Given the description of an element on the screen output the (x, y) to click on. 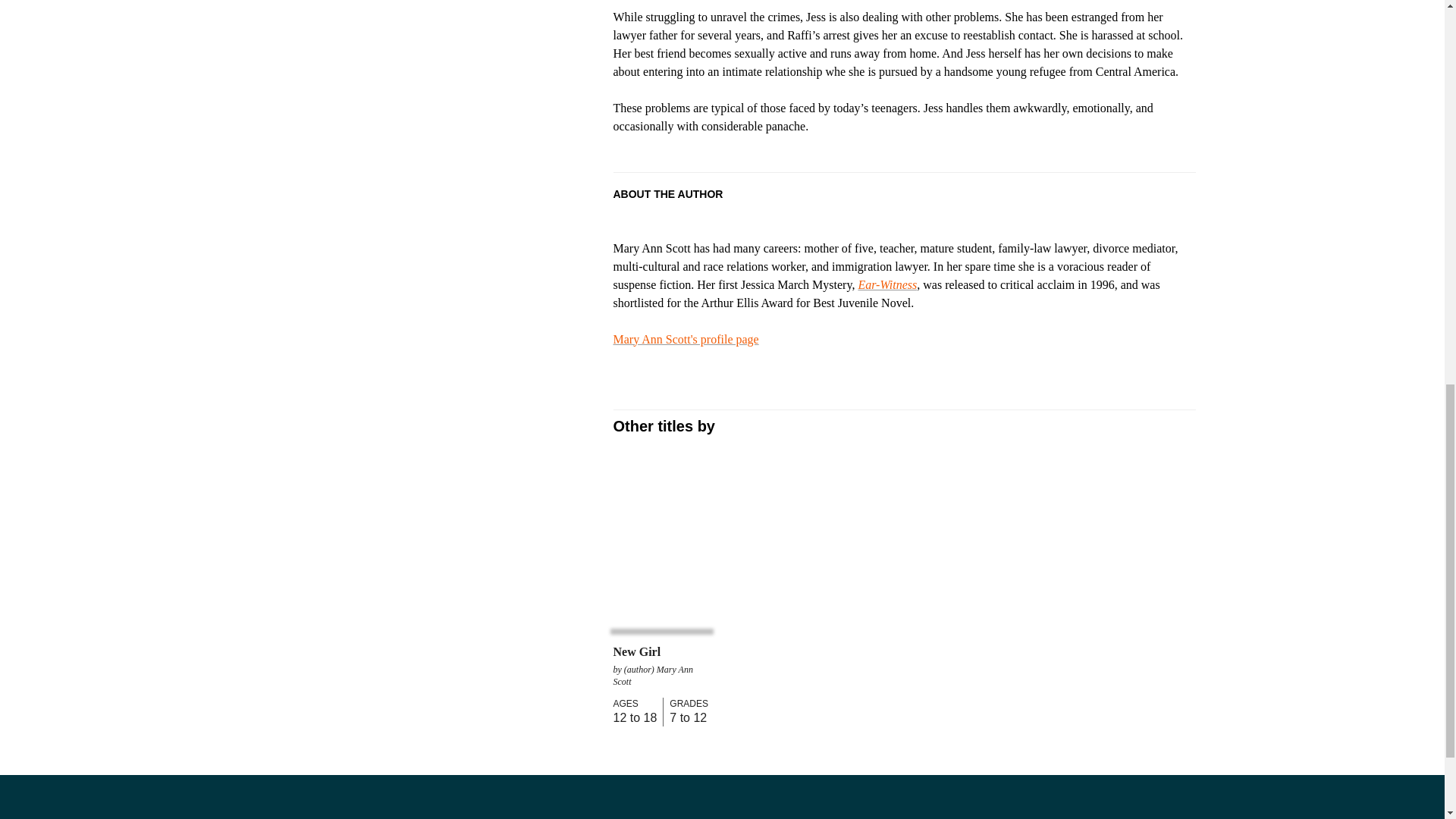
Ear-Witness (887, 284)
Mary Ann Scott's profile page (685, 338)
Recommended Grades (685, 703)
Visit us on Facebook (23, 809)
Visit us on Twitter (57, 809)
Recommended Ages (634, 703)
